Given the description of an element on the screen output the (x, y) to click on. 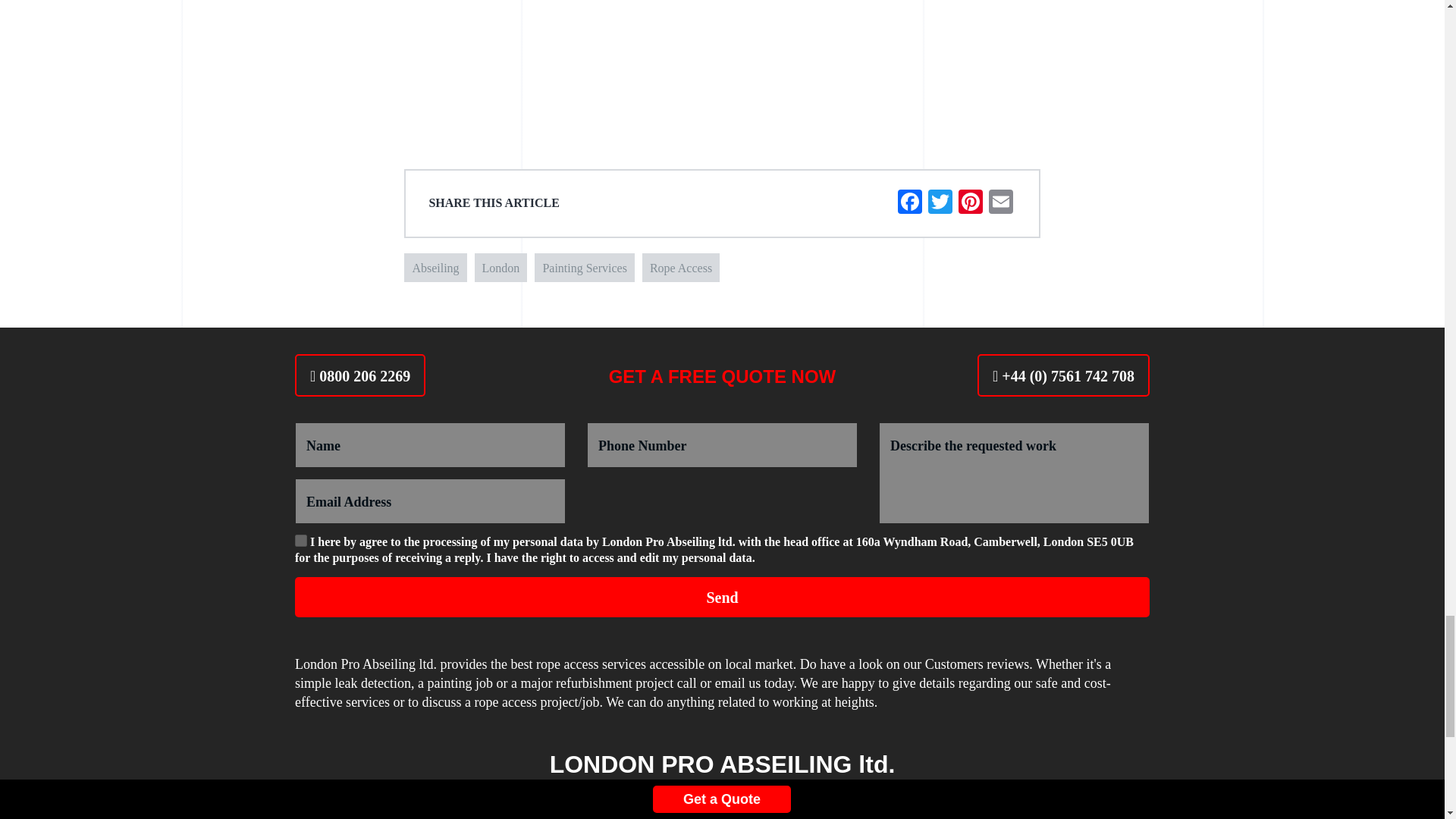
Twitter (939, 203)
Pinterest (970, 203)
Email (1000, 203)
0800 206 2269 (360, 374)
Facebook (909, 203)
Email (1000, 203)
Send (722, 597)
Pinterest (970, 203)
Facebook (909, 203)
1 (301, 540)
Twitter (939, 203)
Send (722, 597)
